Given the description of an element on the screen output the (x, y) to click on. 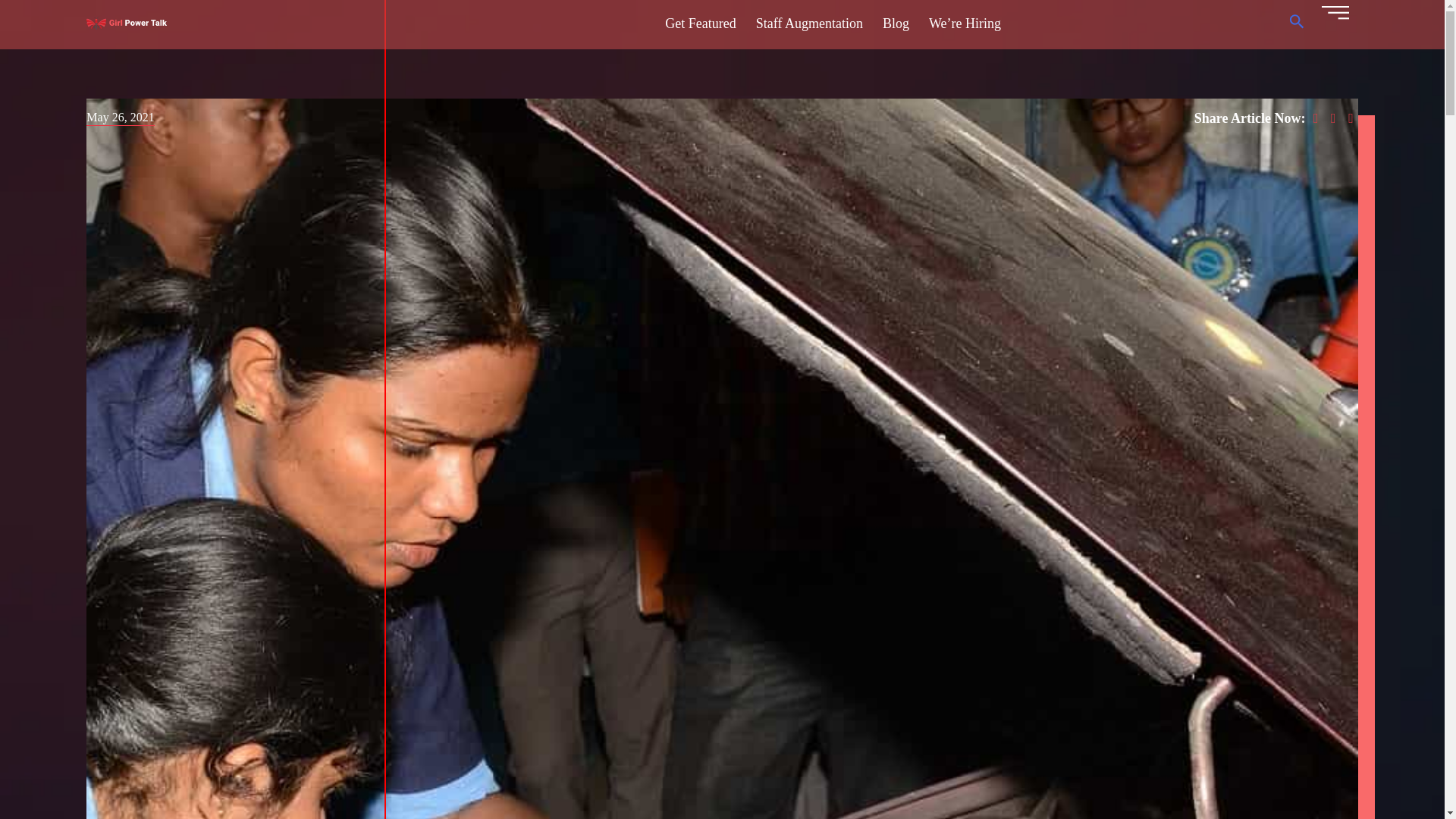
Blog (896, 23)
Main Menu (1335, 24)
Share Article Now: (1250, 118)
Cracking Automobile Sector and Stereotypes: Bella Sara (1334, 118)
Get Featured (700, 23)
Cracking Automobile Sector and Stereotypes: Bella Sara (1350, 118)
Staff Augmentation (809, 23)
